Given the description of an element on the screen output the (x, y) to click on. 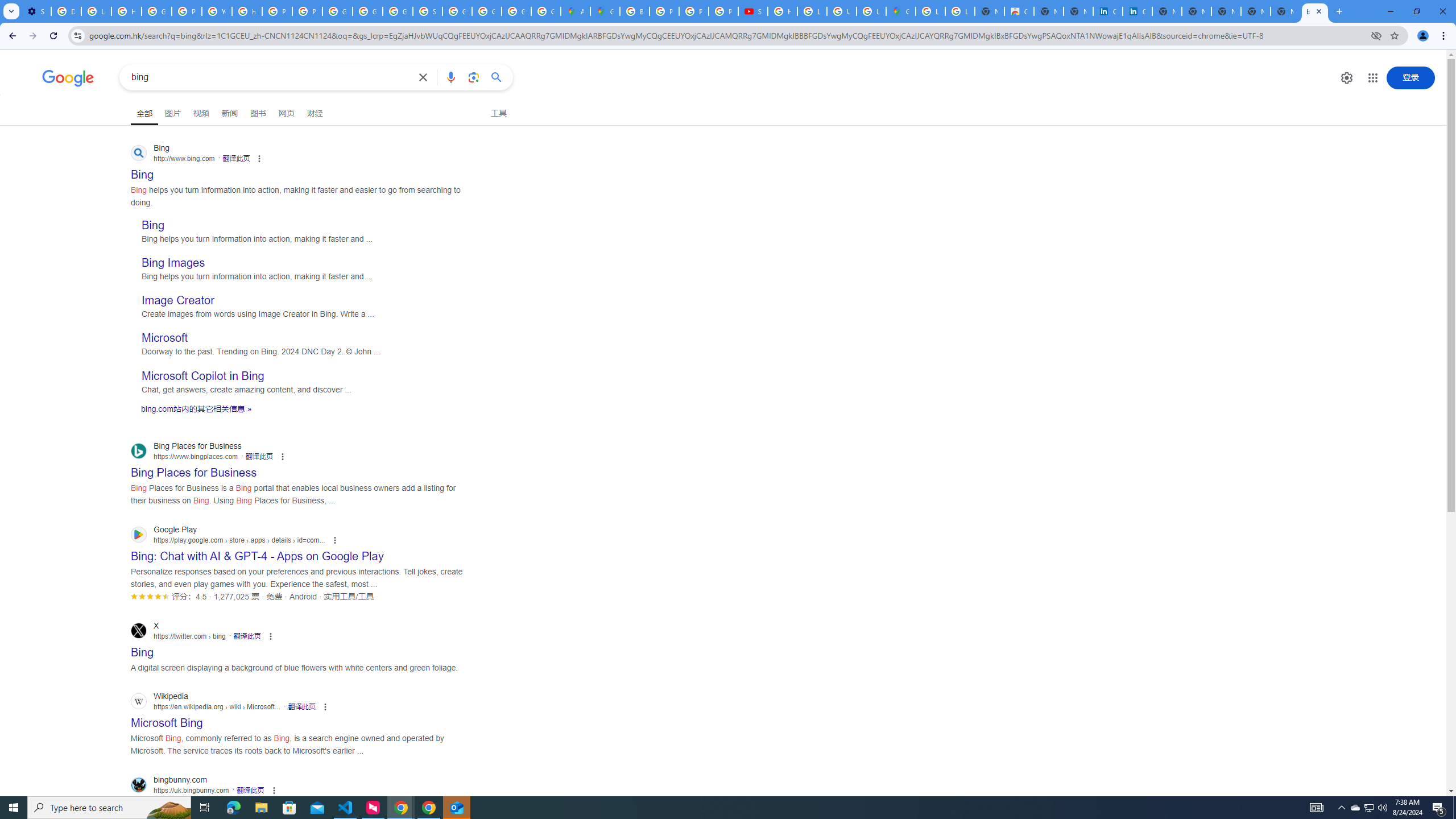
Privacy Help Center - Policies Help (693, 11)
New Tab (1284, 11)
Cookie Policy | LinkedIn (1107, 11)
Google Account Help (156, 11)
